Given the description of an element on the screen output the (x, y) to click on. 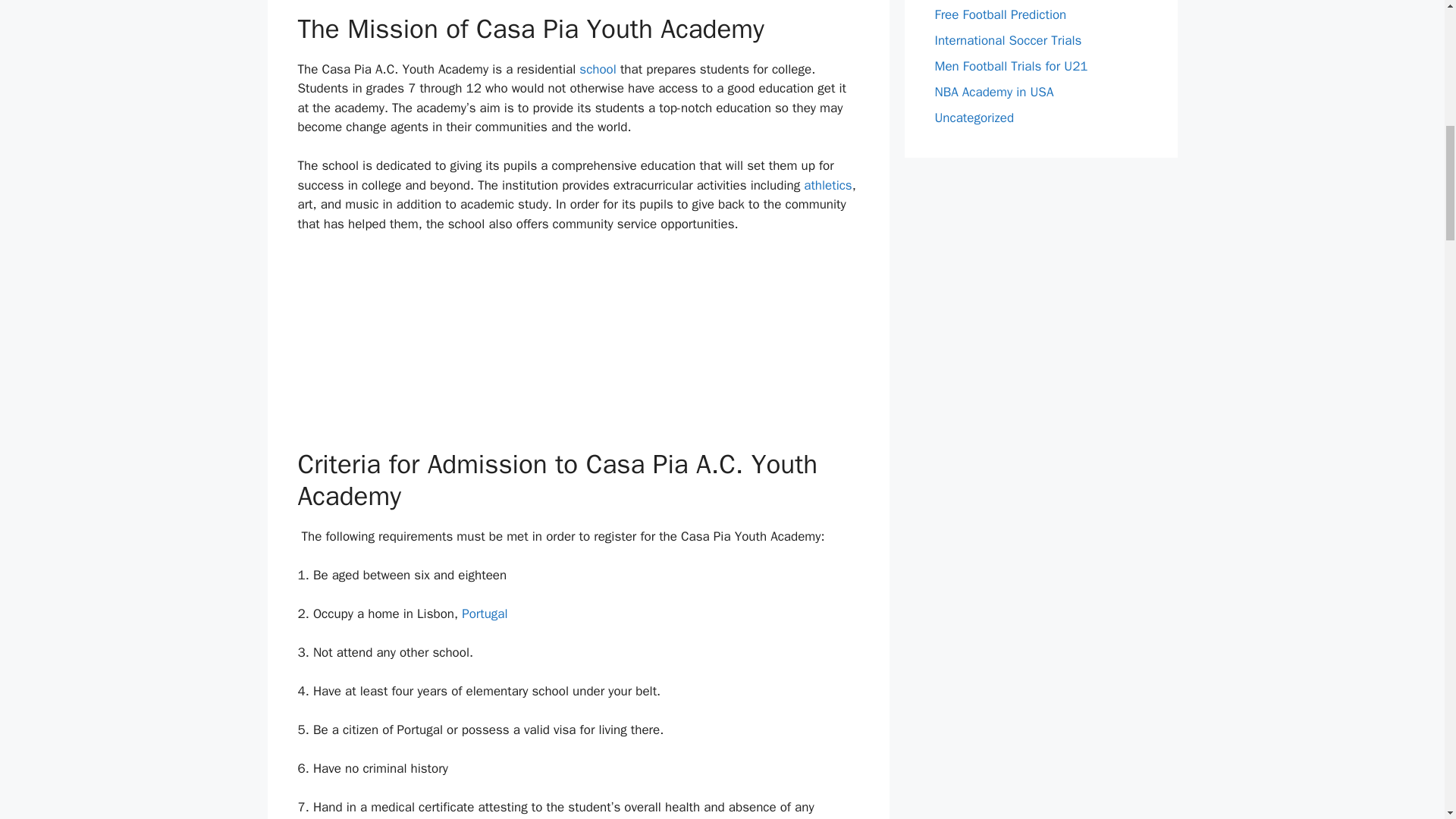
Portugal (483, 613)
school (599, 68)
athletics (827, 185)
